Given the description of an element on the screen output the (x, y) to click on. 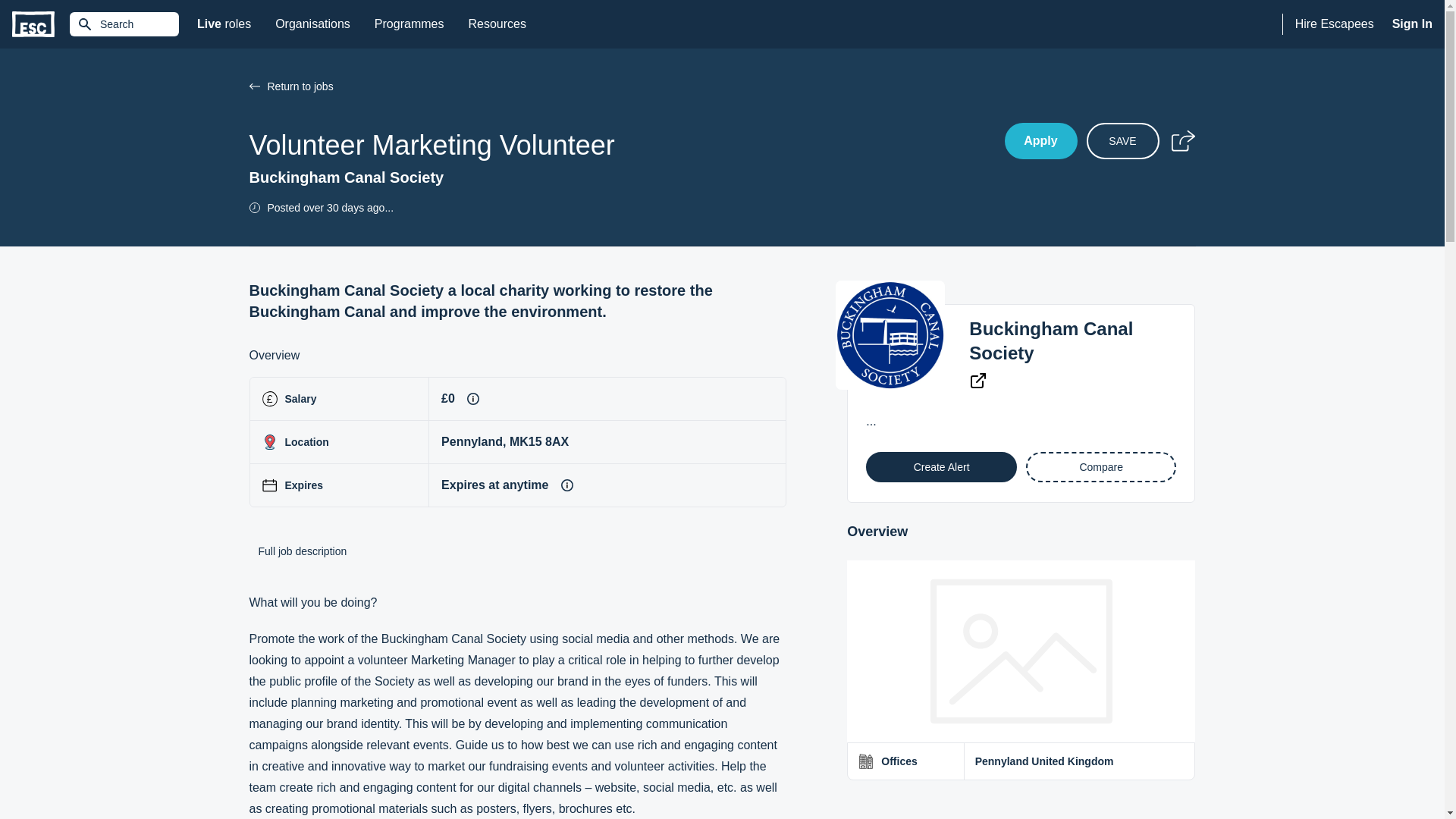
Apply (1040, 140)
Programmes (409, 24)
Buckingham Canal Society (1050, 340)
Return to jobs (253, 86)
Sign In (1411, 24)
Create Alert (941, 467)
SAVE (1122, 140)
Create Alert (941, 467)
Resources (496, 24)
Return to jobs (626, 86)
Organisations (312, 24)
Compare (1101, 467)
Hire Escapees (1334, 24)
Escape the City (33, 24)
